Given the description of an element on the screen output the (x, y) to click on. 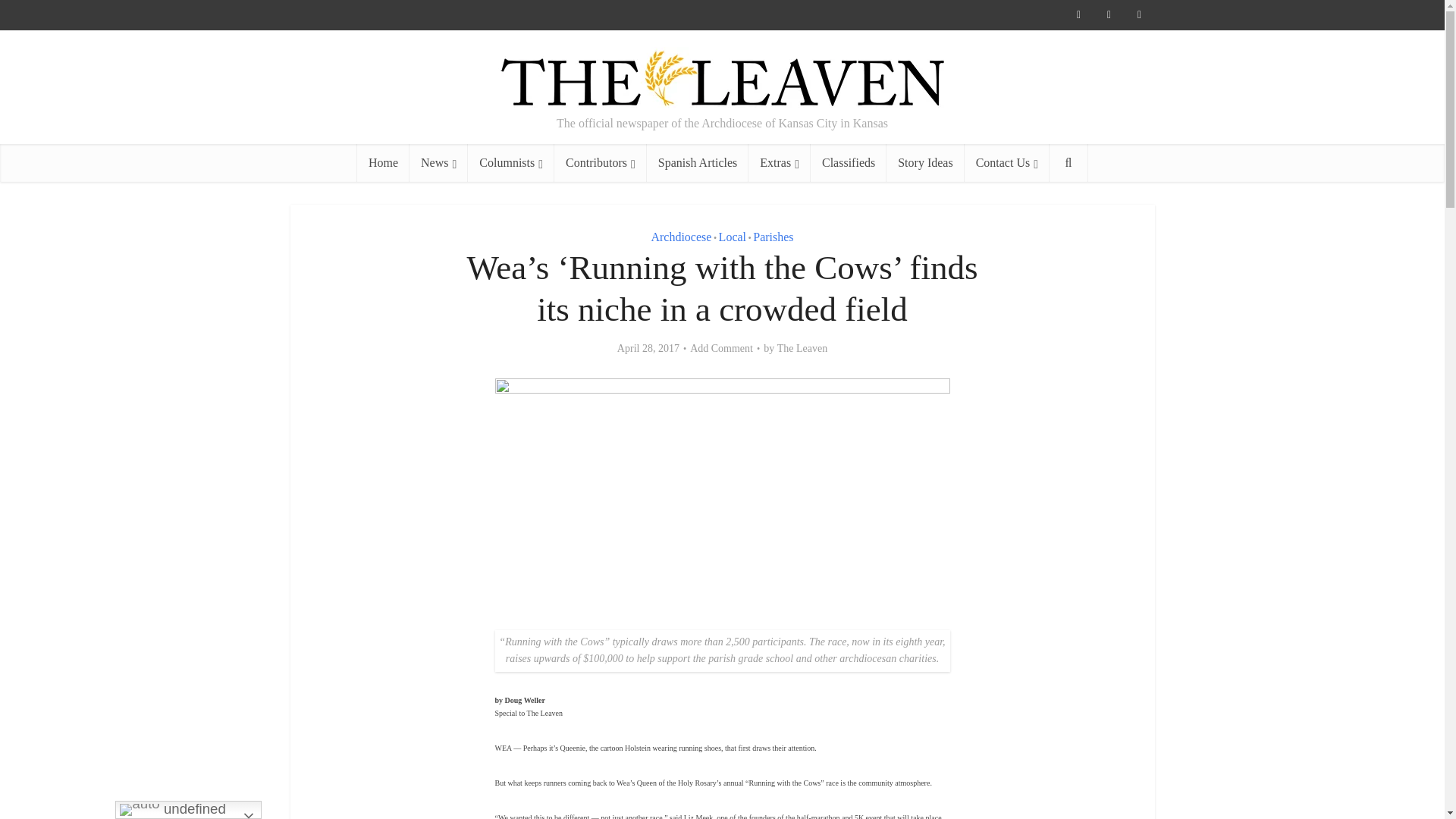
Contributors (600, 162)
Columnists (510, 162)
Spanish Articles (697, 162)
None (438, 162)
Home (382, 162)
News (438, 162)
Classifieds (848, 162)
Extras (779, 162)
